Given the description of an element on the screen output the (x, y) to click on. 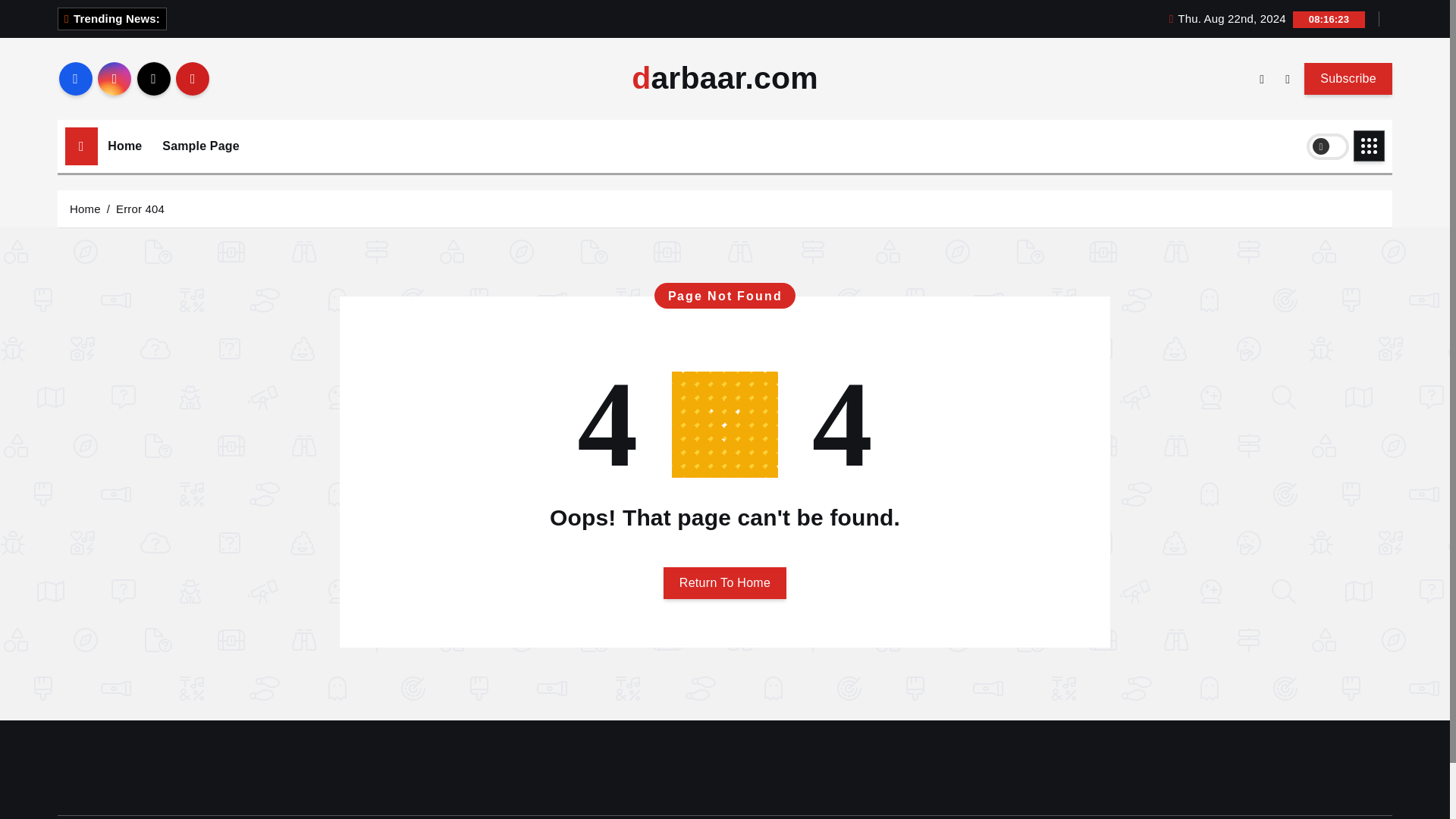
Home (84, 207)
darbaar.com (724, 78)
Home (124, 146)
Error 404 (140, 207)
Return To Home (724, 582)
Subscribe (1347, 78)
Sample Page (200, 146)
Home (124, 146)
